Given the description of an element on the screen output the (x, y) to click on. 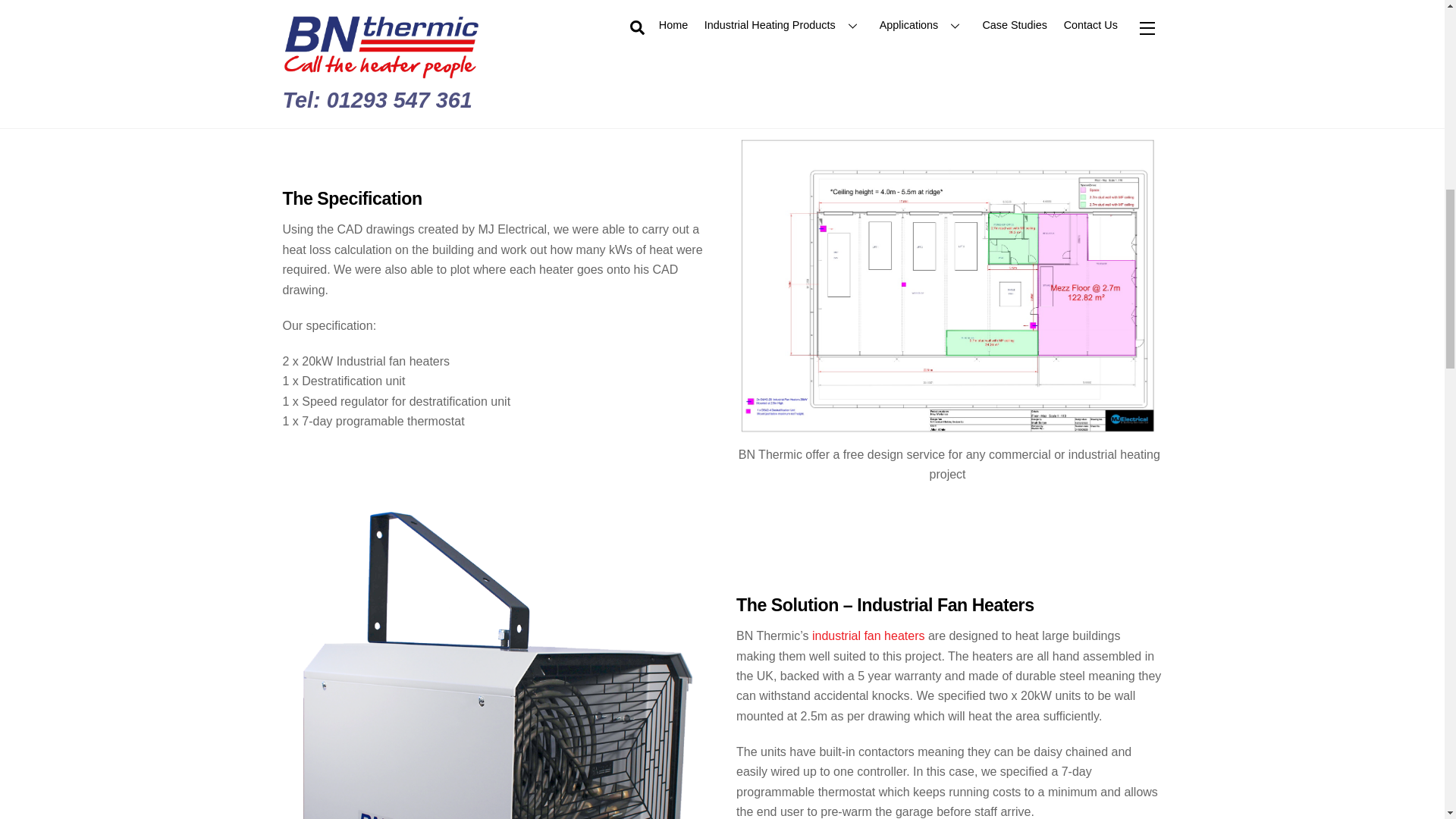
OUH2 side view website (495, 662)
ouh2 (495, 34)
Model (948, 287)
